Given the description of an element on the screen output the (x, y) to click on. 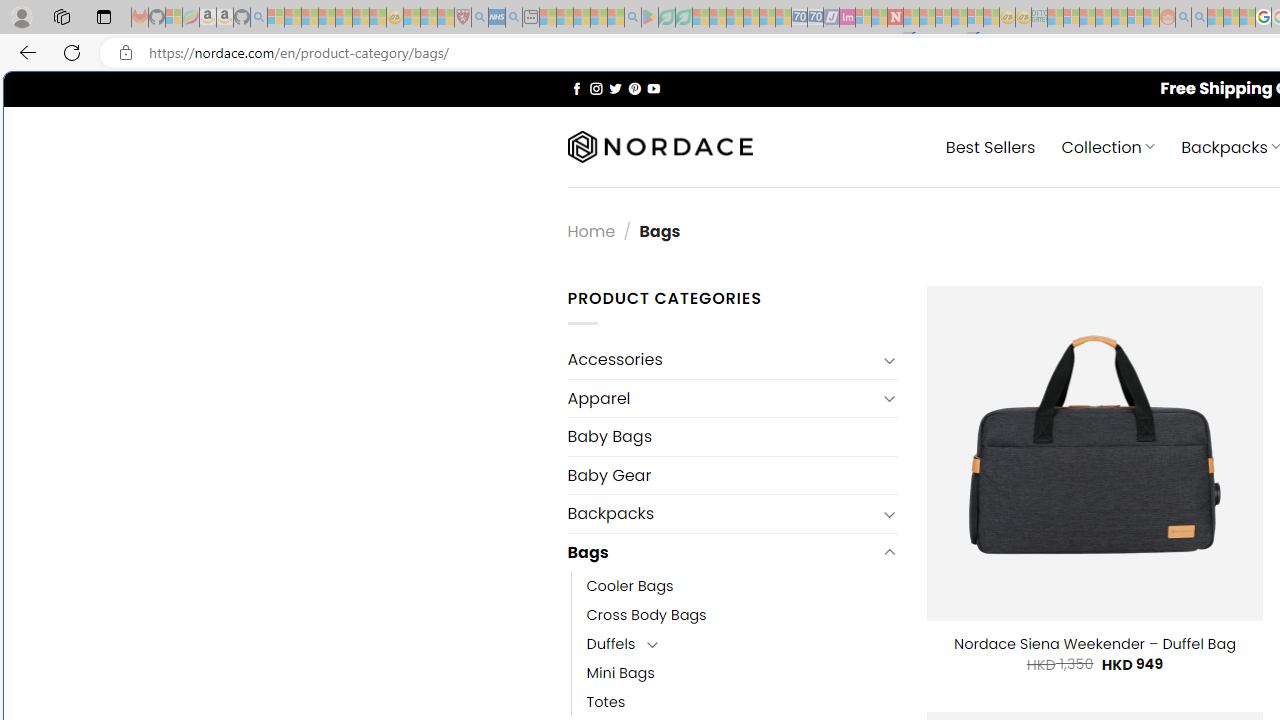
Apparel (721, 398)
Backpacks (721, 514)
Follow on Pinterest (634, 88)
Bags (721, 552)
